Given the description of an element on the screen output the (x, y) to click on. 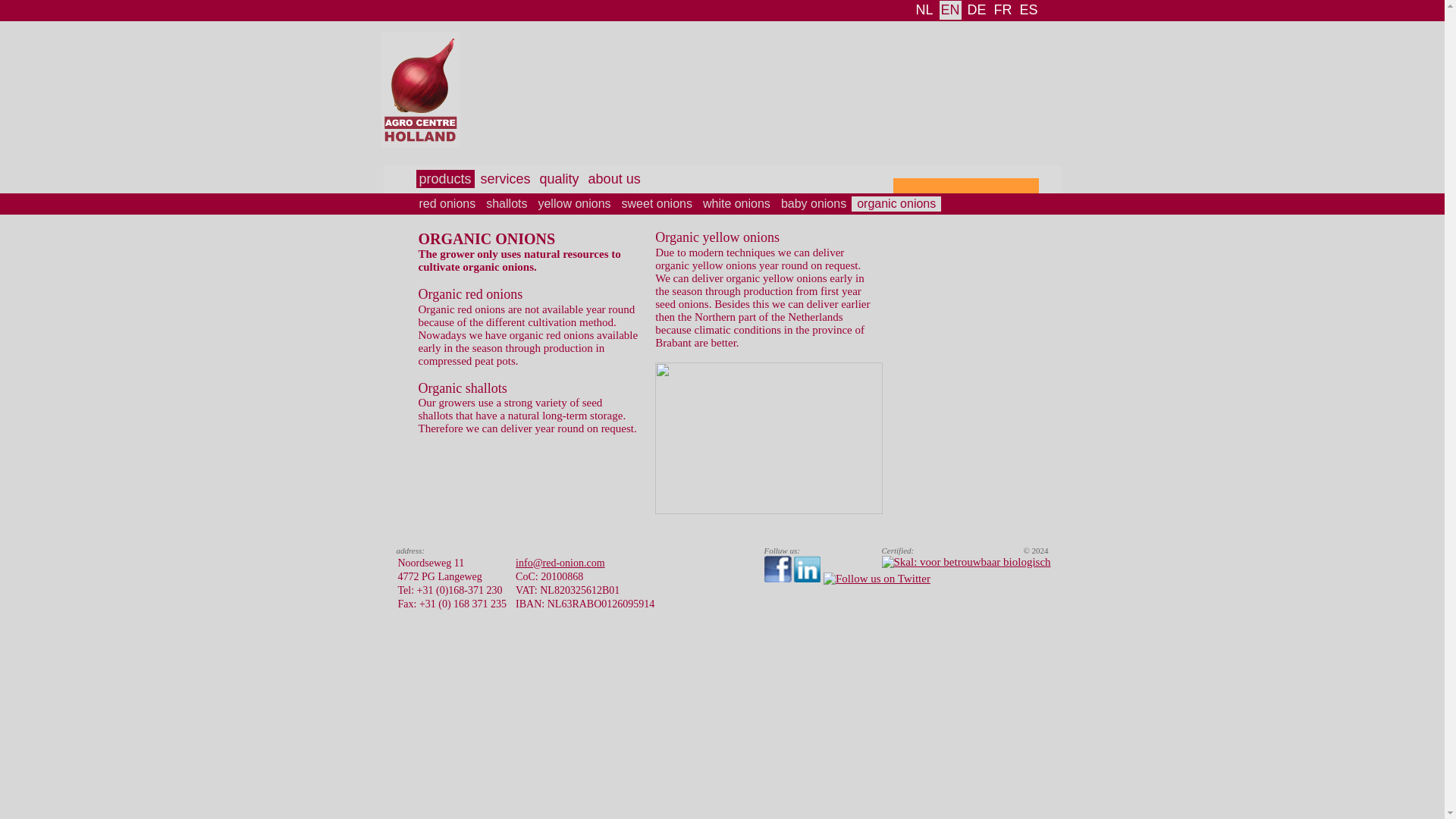
white onions (736, 203)
EN (949, 9)
yellow onions (573, 203)
About us (614, 178)
about us (614, 178)
DE (977, 9)
ES (1028, 9)
Follow us on Linked-In (807, 569)
services (505, 178)
Sweet onions (656, 203)
